Given the description of an element on the screen output the (x, y) to click on. 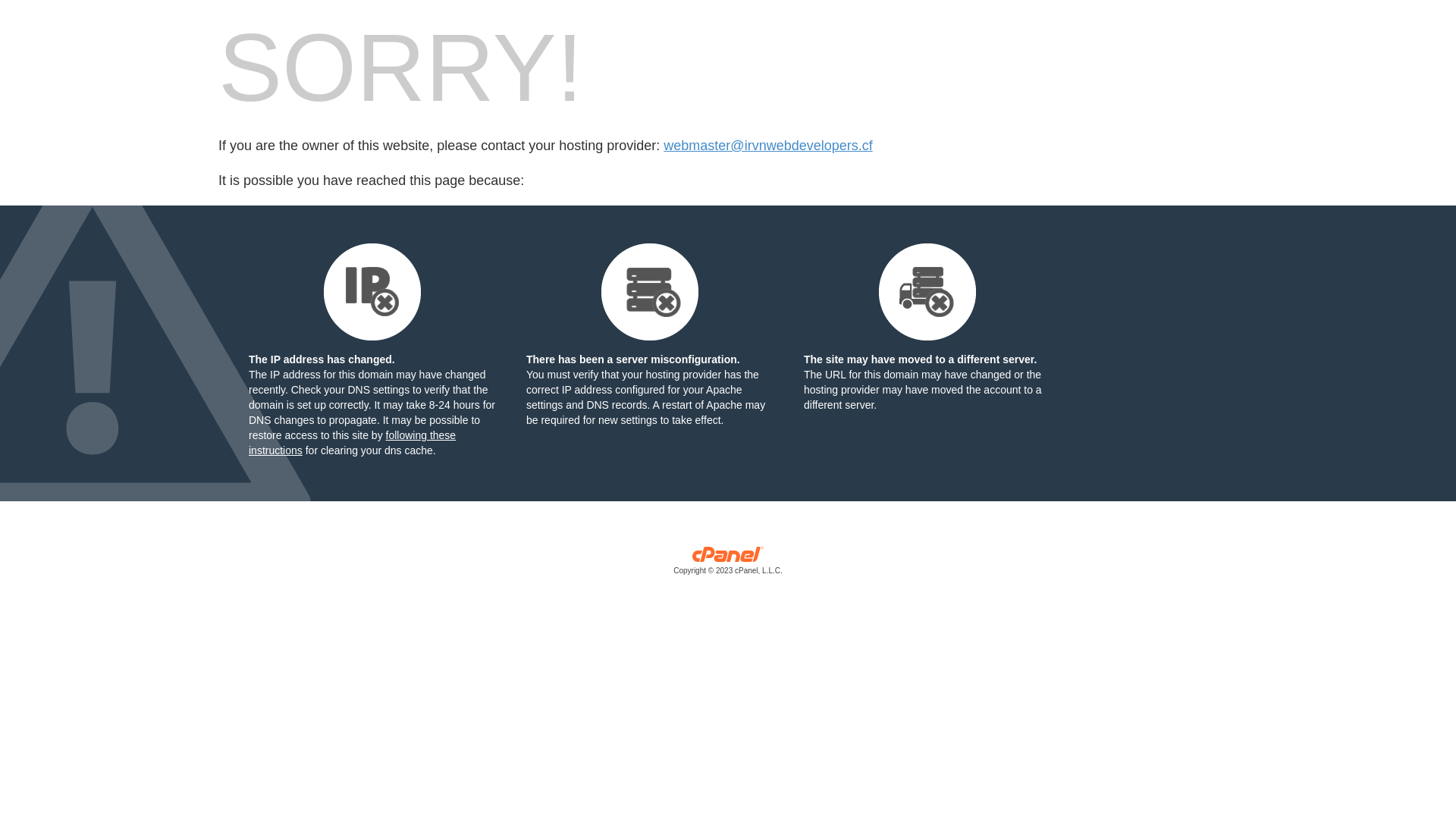
webmaster@irvnwebdevelopers.cf Element type: text (767, 145)
following these instructions Element type: text (351, 442)
